Given the description of an element on the screen output the (x, y) to click on. 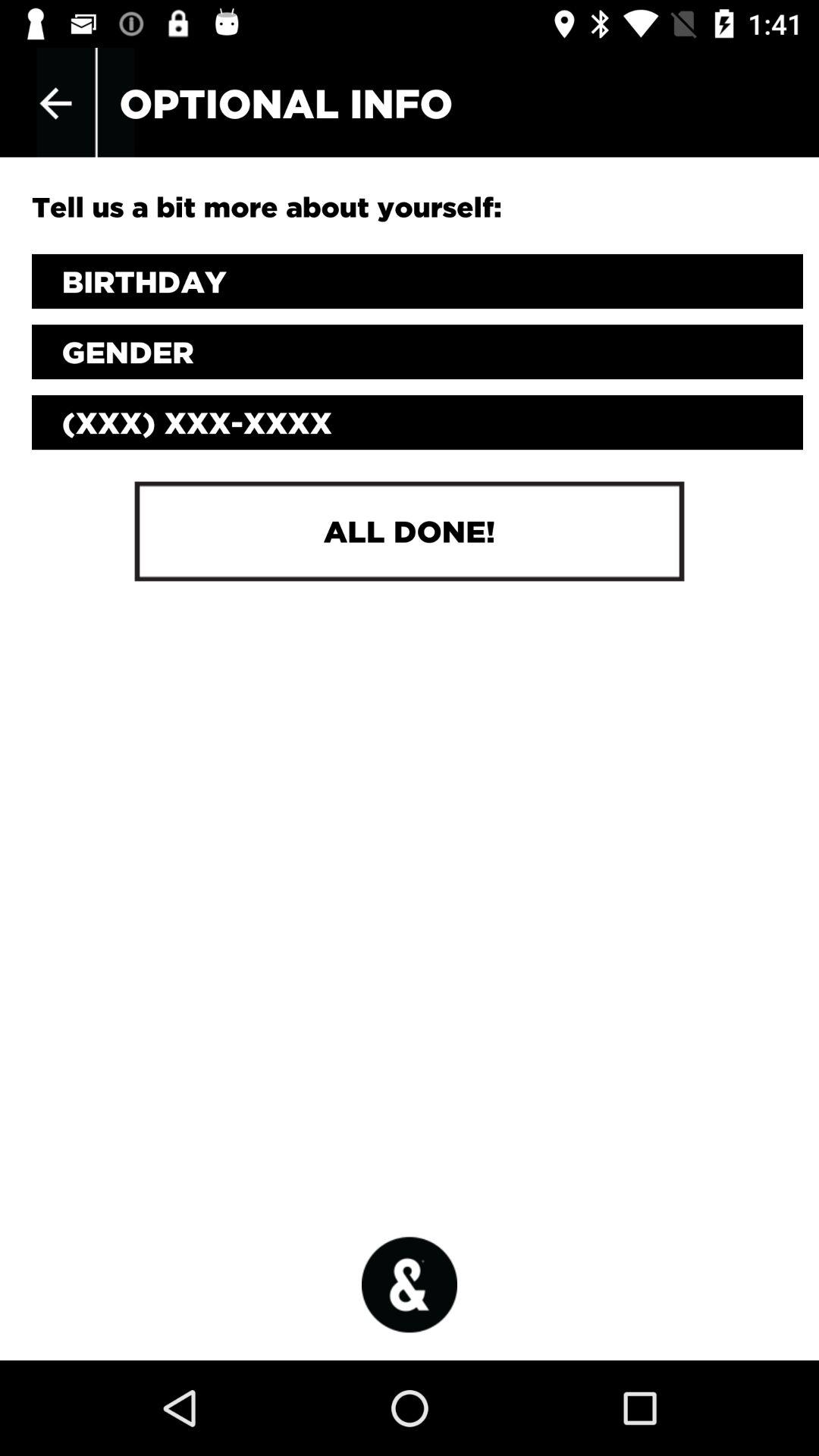
tap icon to the left of optional info app (55, 103)
